Given the description of an element on the screen output the (x, y) to click on. 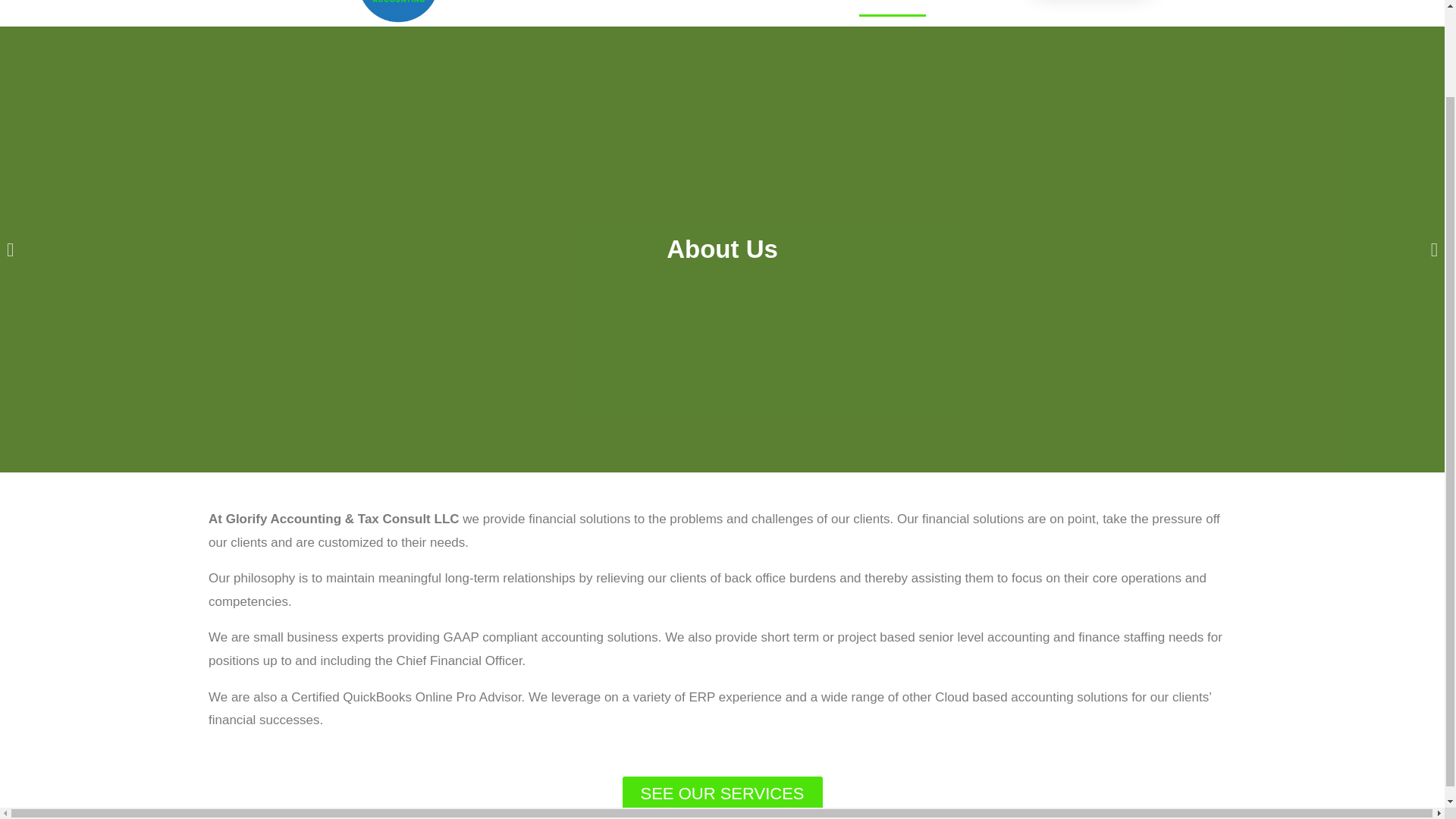
SEE OUR SERVICES (721, 793)
HOME (823, 8)
ABOUT (892, 8)
SERVICES (972, 8)
